Given the description of an element on the screen output the (x, y) to click on. 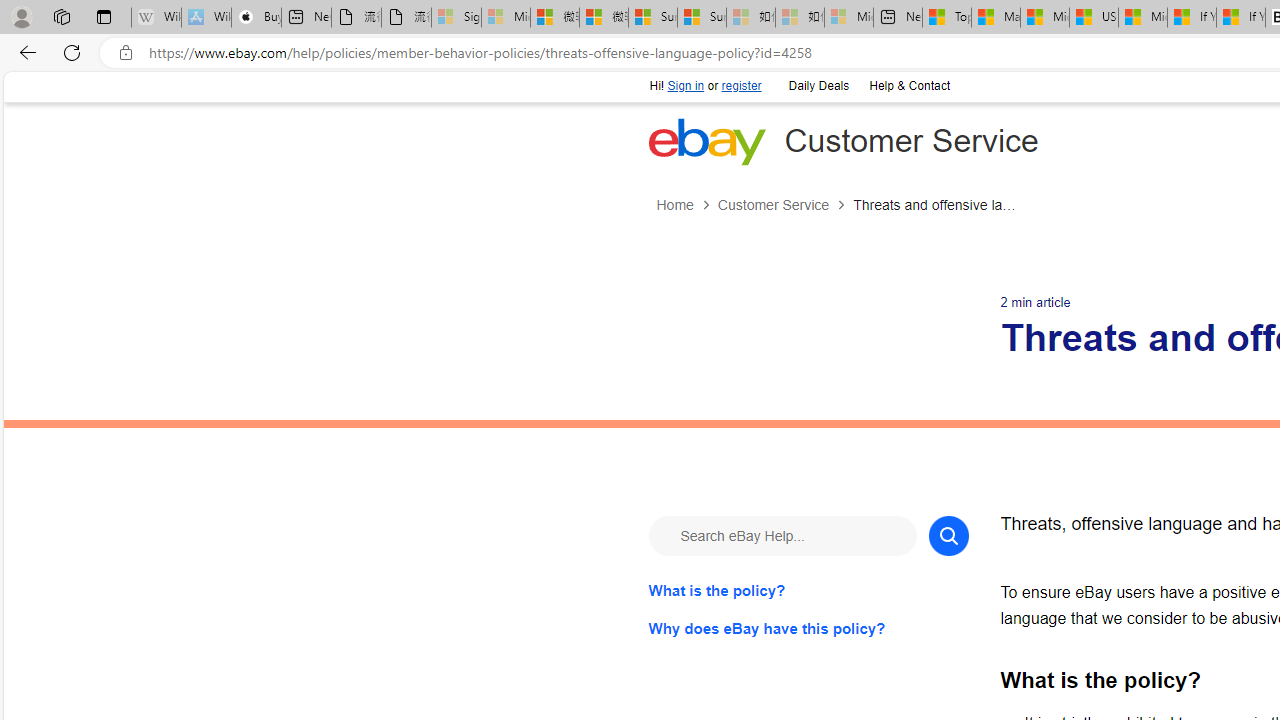
eBay Home (706, 141)
register (740, 85)
